Given the description of an element on the screen output the (x, y) to click on. 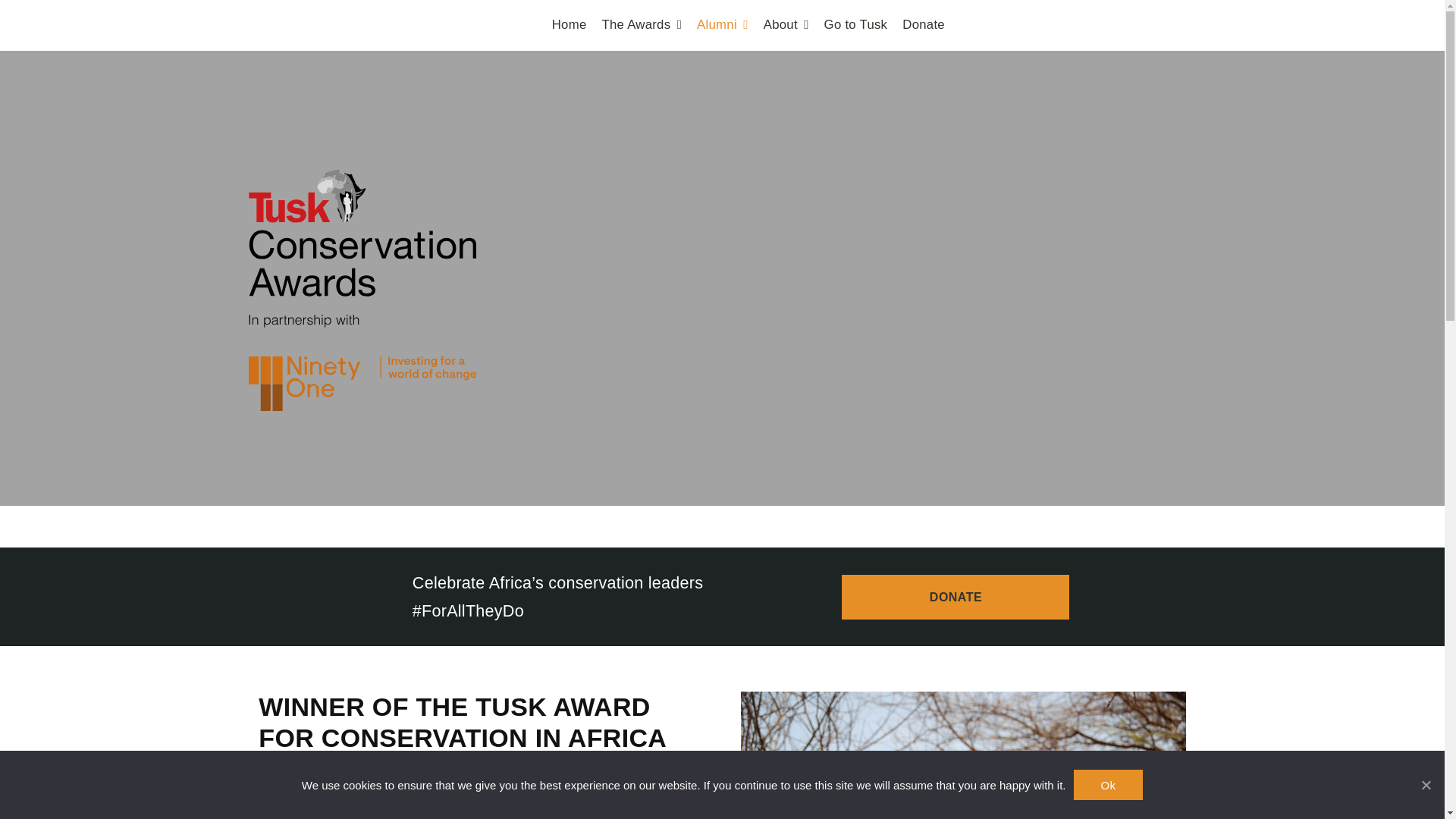
Alumni (722, 25)
The Awards (641, 25)
Tom Lalampaa 1 (963, 755)
